Given the description of an element on the screen output the (x, y) to click on. 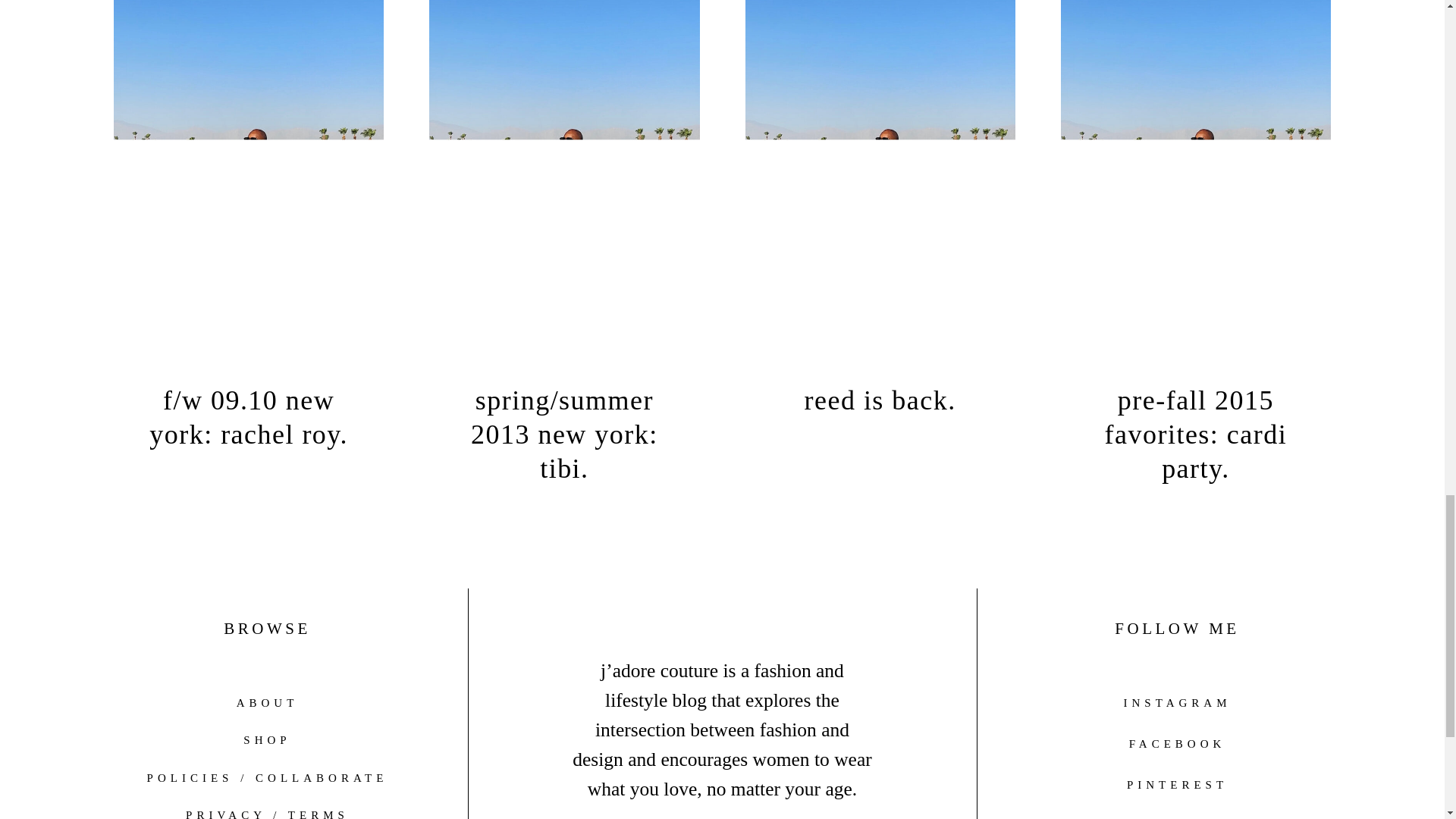
SHOP (266, 740)
INSTAGRAM (1177, 702)
ABOUT (266, 702)
FACEBOOK (1177, 743)
